Given the description of an element on the screen output the (x, y) to click on. 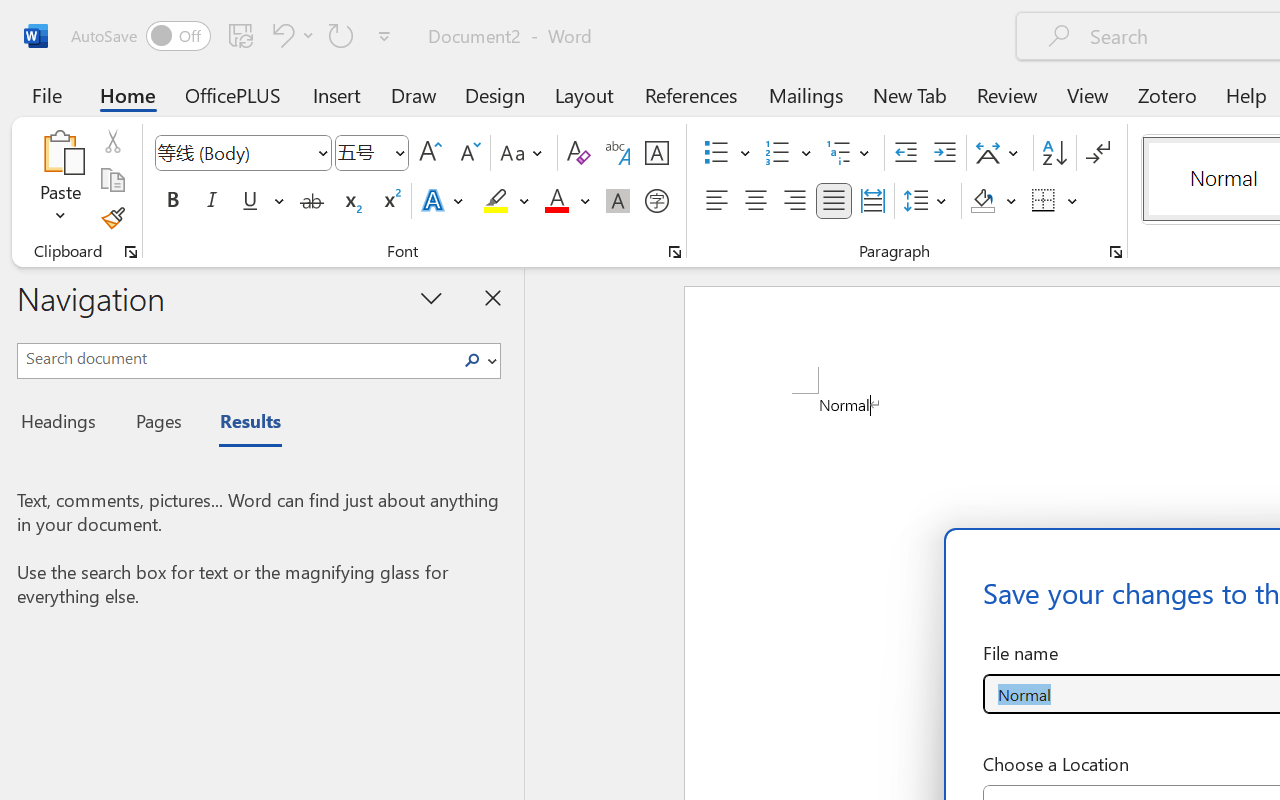
Draw (413, 94)
Enclose Characters... (656, 201)
Zotero (1166, 94)
Shading RGB(0, 0, 0) (982, 201)
Font Size (362, 152)
Character Border (656, 153)
Customize Quick Access Toolbar (384, 35)
Subscript (350, 201)
Class: NetUIImage (471, 360)
Italic (212, 201)
Font Color (567, 201)
Underline (250, 201)
Cut (112, 141)
Clear Formatting (578, 153)
Layout (584, 94)
